Given the description of an element on the screen output the (x, y) to click on. 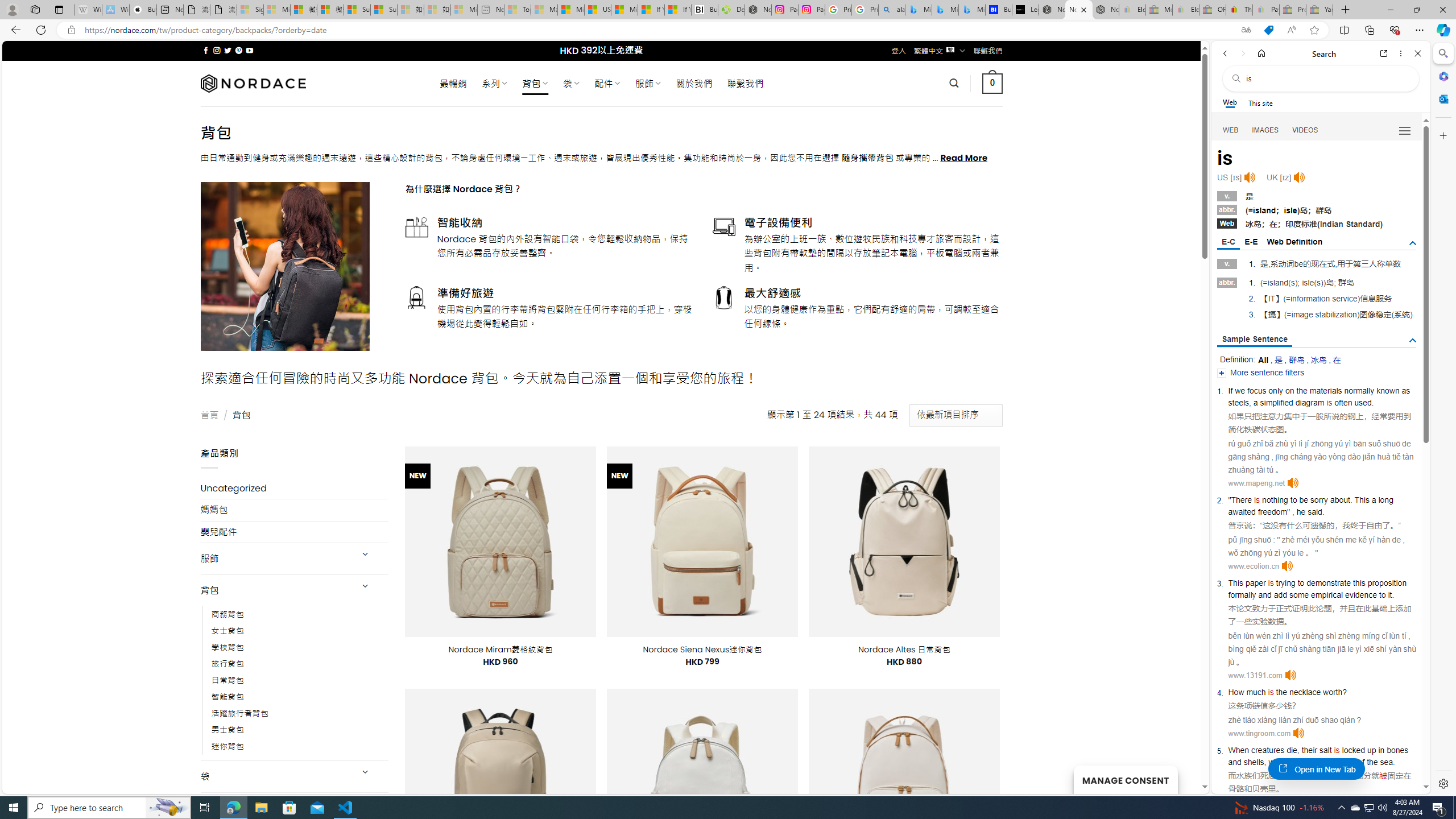
www.ecolion.cn (1253, 565)
Top Stories - MSN - Sleeping (517, 9)
, (1264, 761)
Follow on Facebook (205, 50)
